Given the description of an element on the screen output the (x, y) to click on. 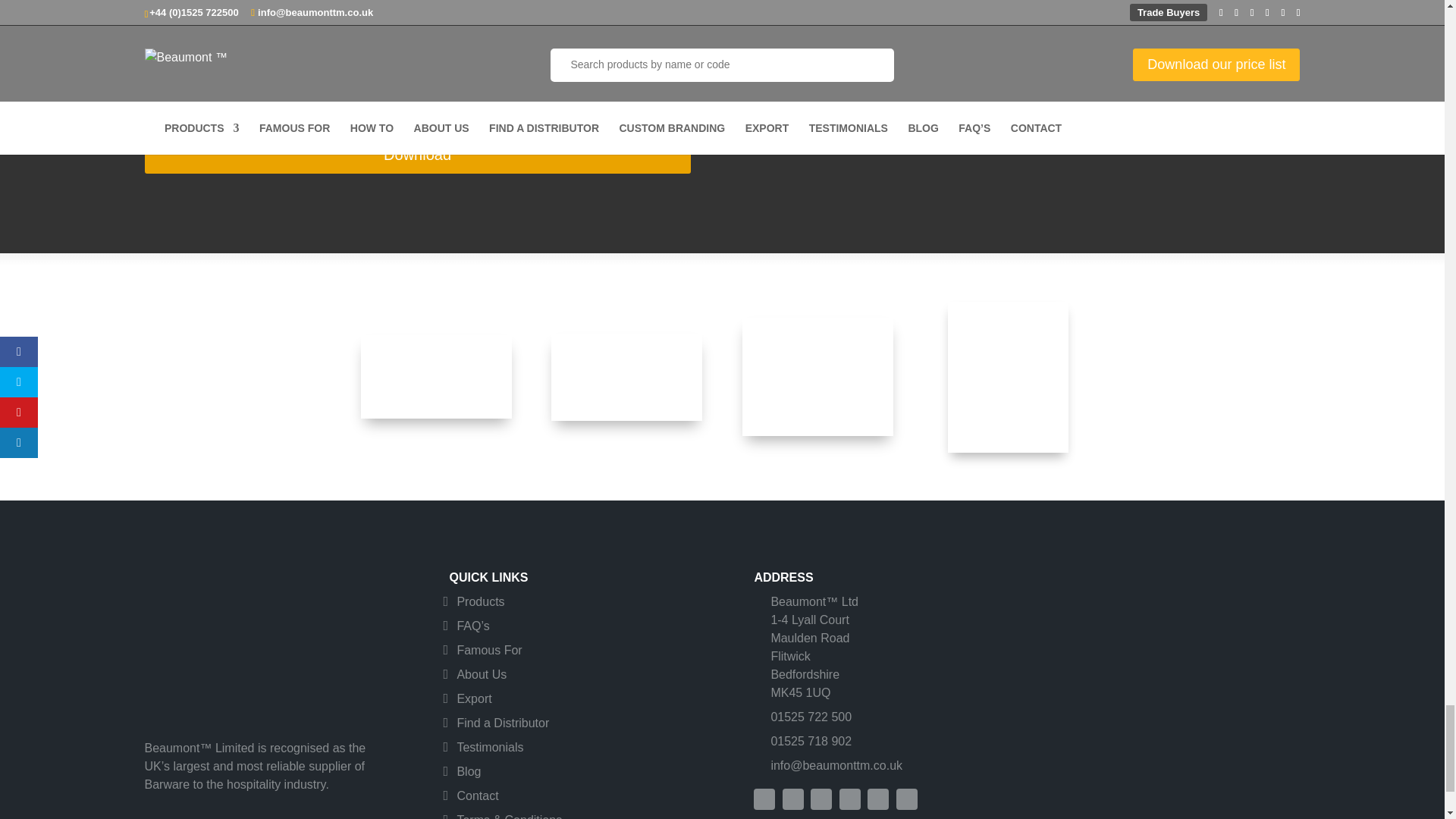
Download (417, 154)
